Given the description of an element on the screen output the (x, y) to click on. 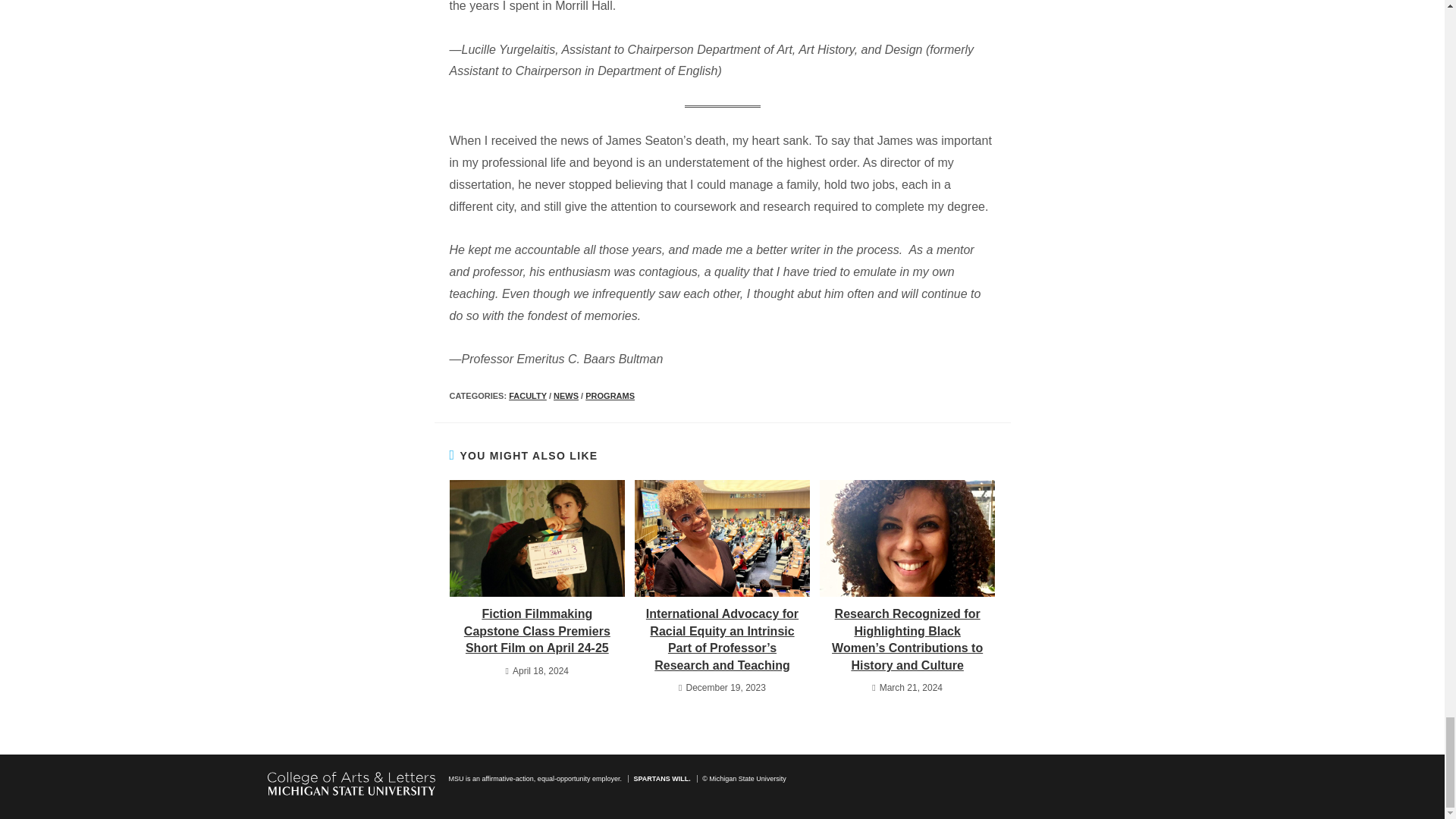
Michigan State University College of Arts and Letters (349, 783)
